Given the description of an element on the screen output the (x, y) to click on. 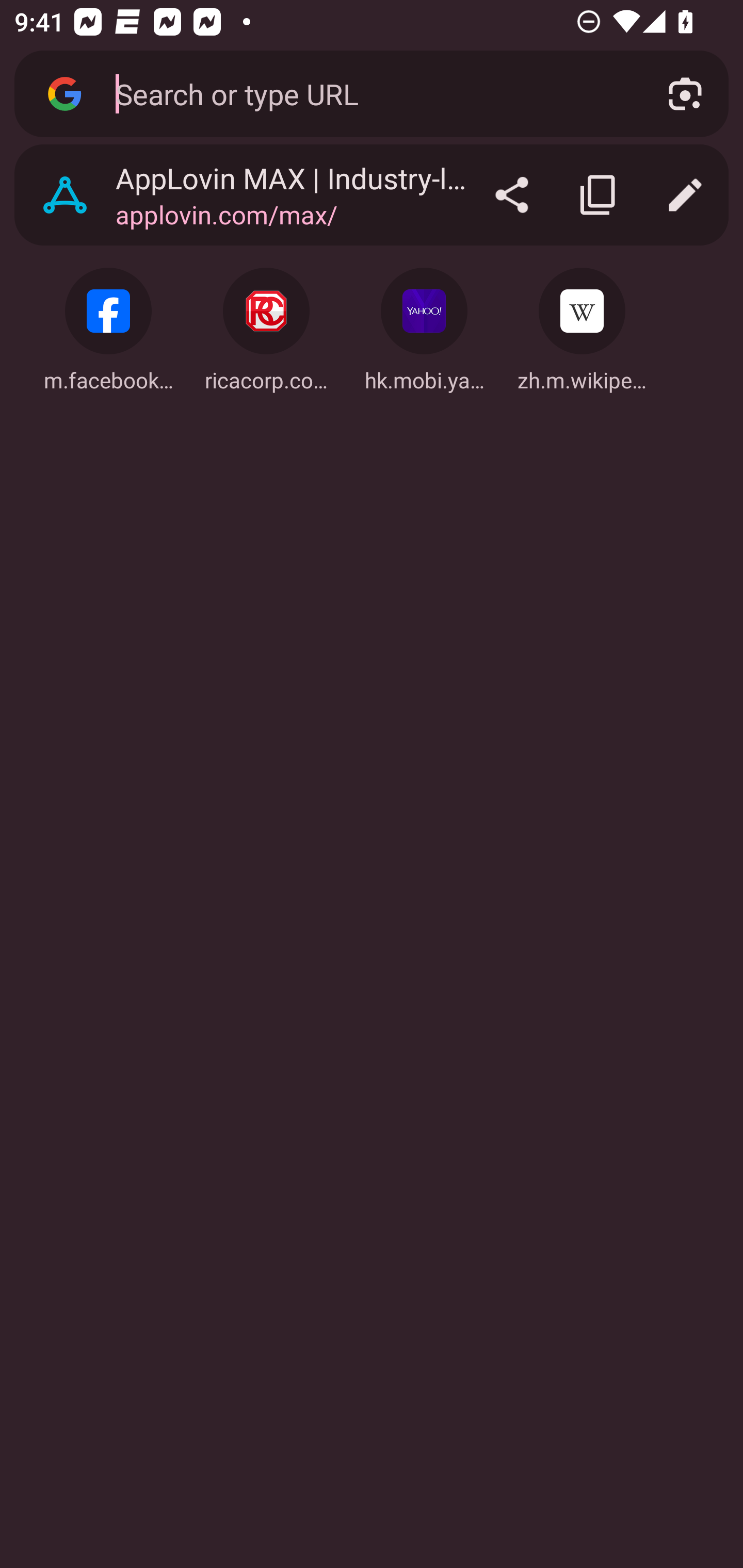
Search with your camera using Google Lens (684, 93)
Search or type URL (367, 92)
Share… (511, 195)
Copy link (598, 195)
Edit (684, 195)
